Given the description of an element on the screen output the (x, y) to click on. 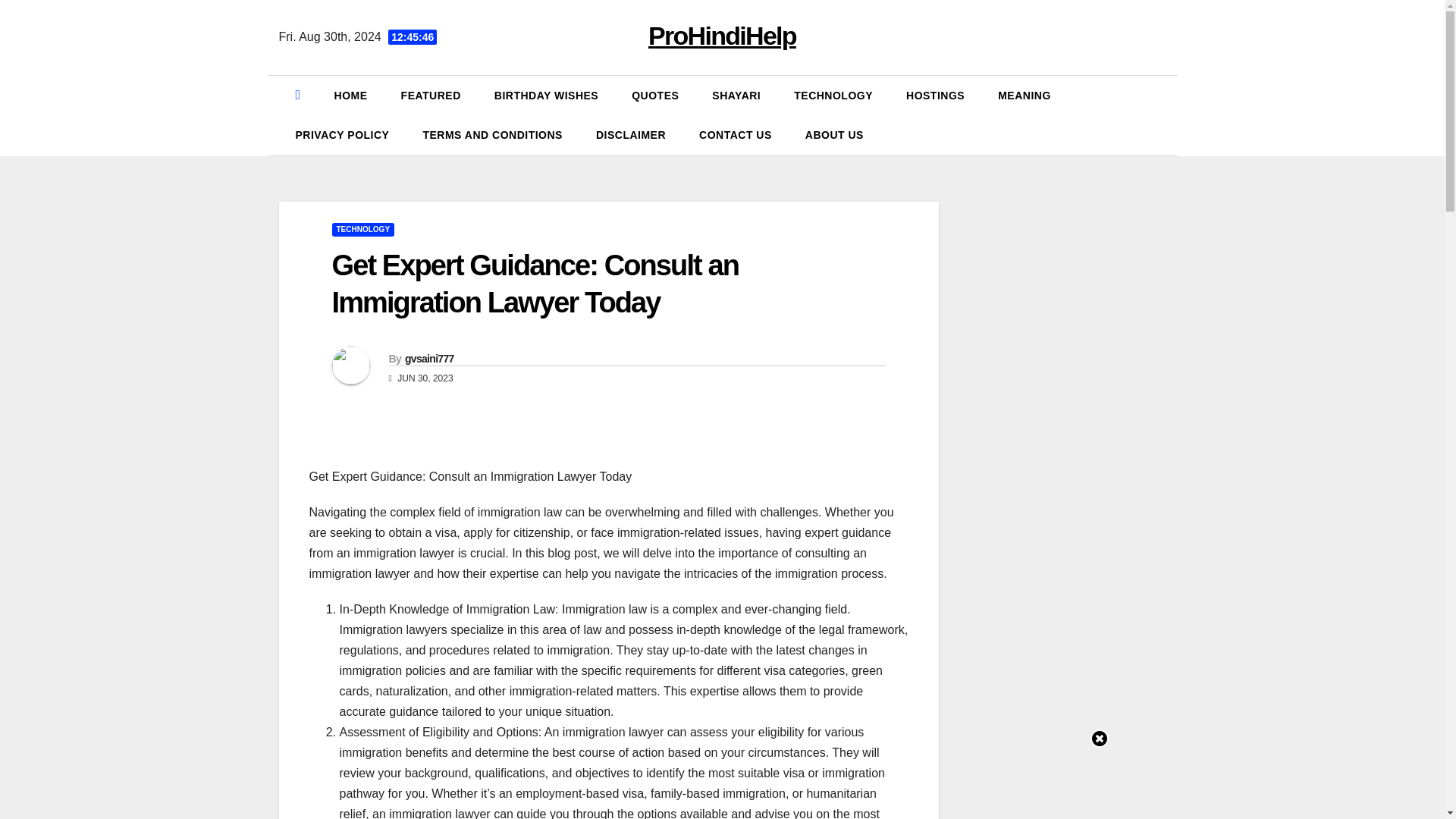
Quotes (654, 95)
Hostings (935, 95)
Featured (430, 95)
Technology (833, 95)
HOME (350, 95)
TECHNOLOGY (362, 229)
SHAYARI (736, 95)
About Us (834, 134)
PRIVACY POLICY (342, 134)
DISCLAIMER (630, 134)
